Given the description of an element on the screen output the (x, y) to click on. 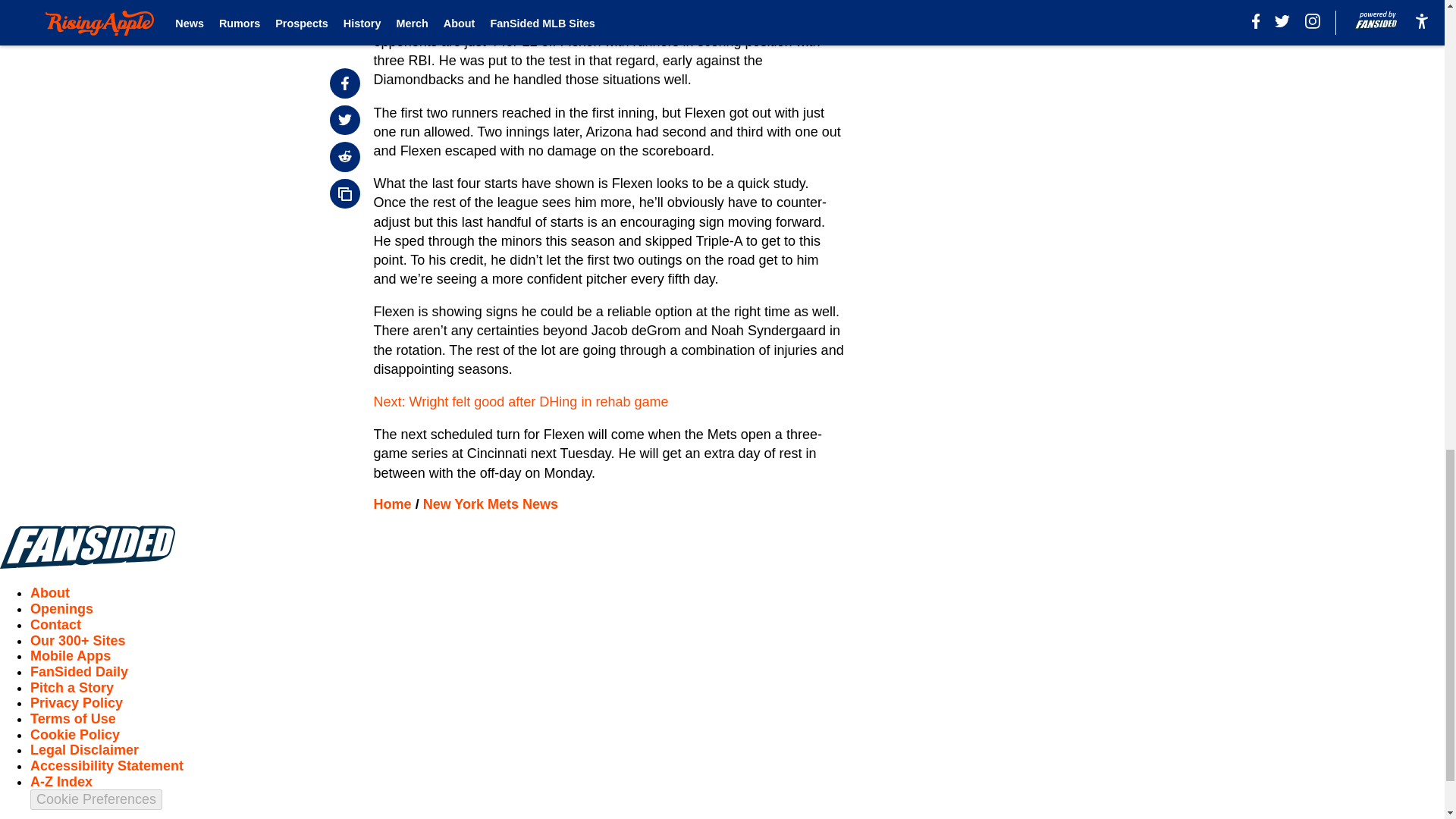
Openings (61, 608)
New York Mets News (490, 503)
Home (393, 503)
Next: Wright felt good after DHing in rehab game (521, 401)
About (49, 592)
